Given the description of an element on the screen output the (x, y) to click on. 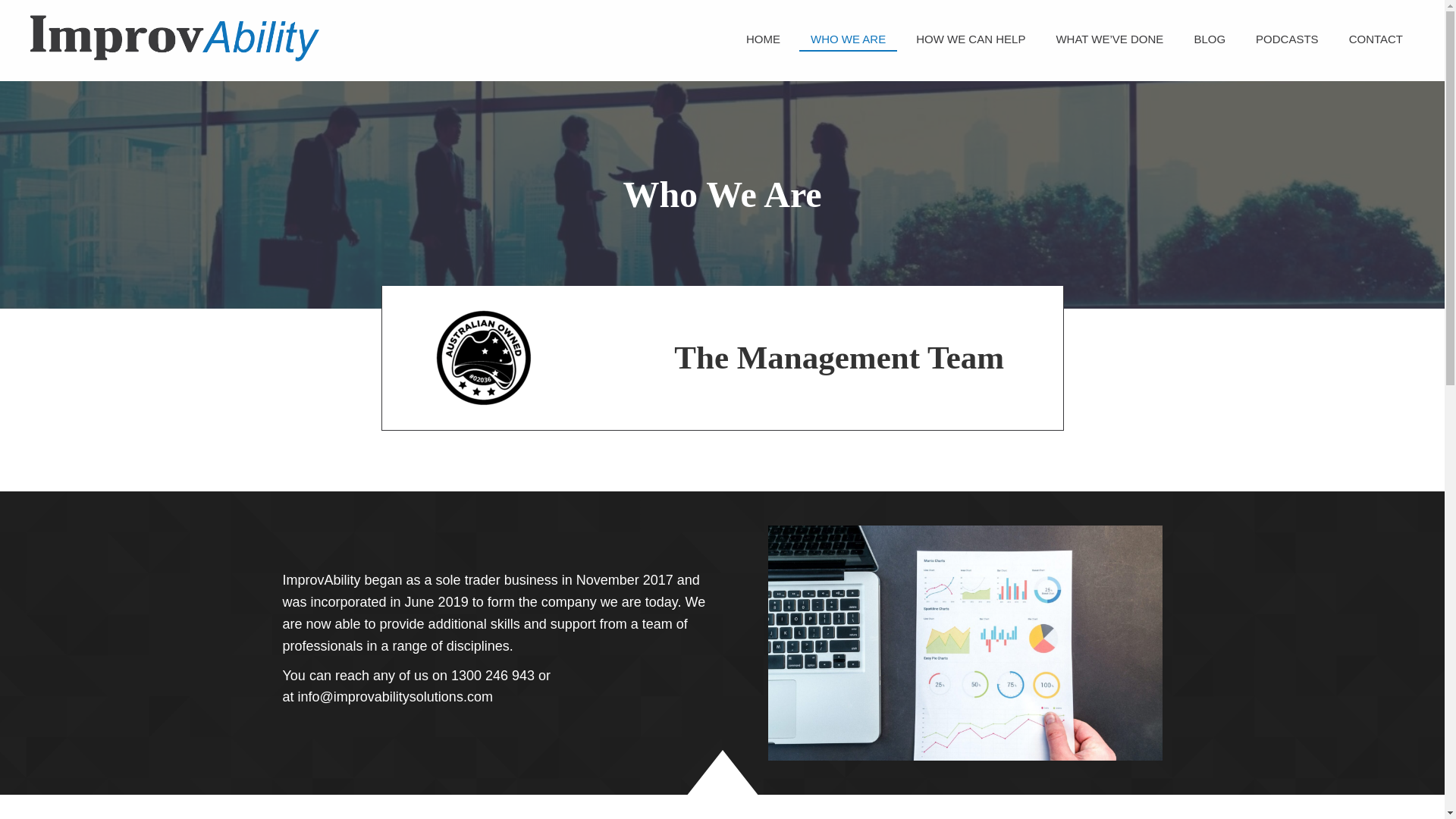
HOW WE CAN HELP (970, 37)
WHO WE ARE (847, 38)
PODCASTS (1287, 37)
CONTACT (1375, 37)
1300 246 943 (492, 675)
AO-logo-BW-IA (483, 357)
BLOG (1209, 37)
HOME (763, 37)
